Given the description of an element on the screen output the (x, y) to click on. 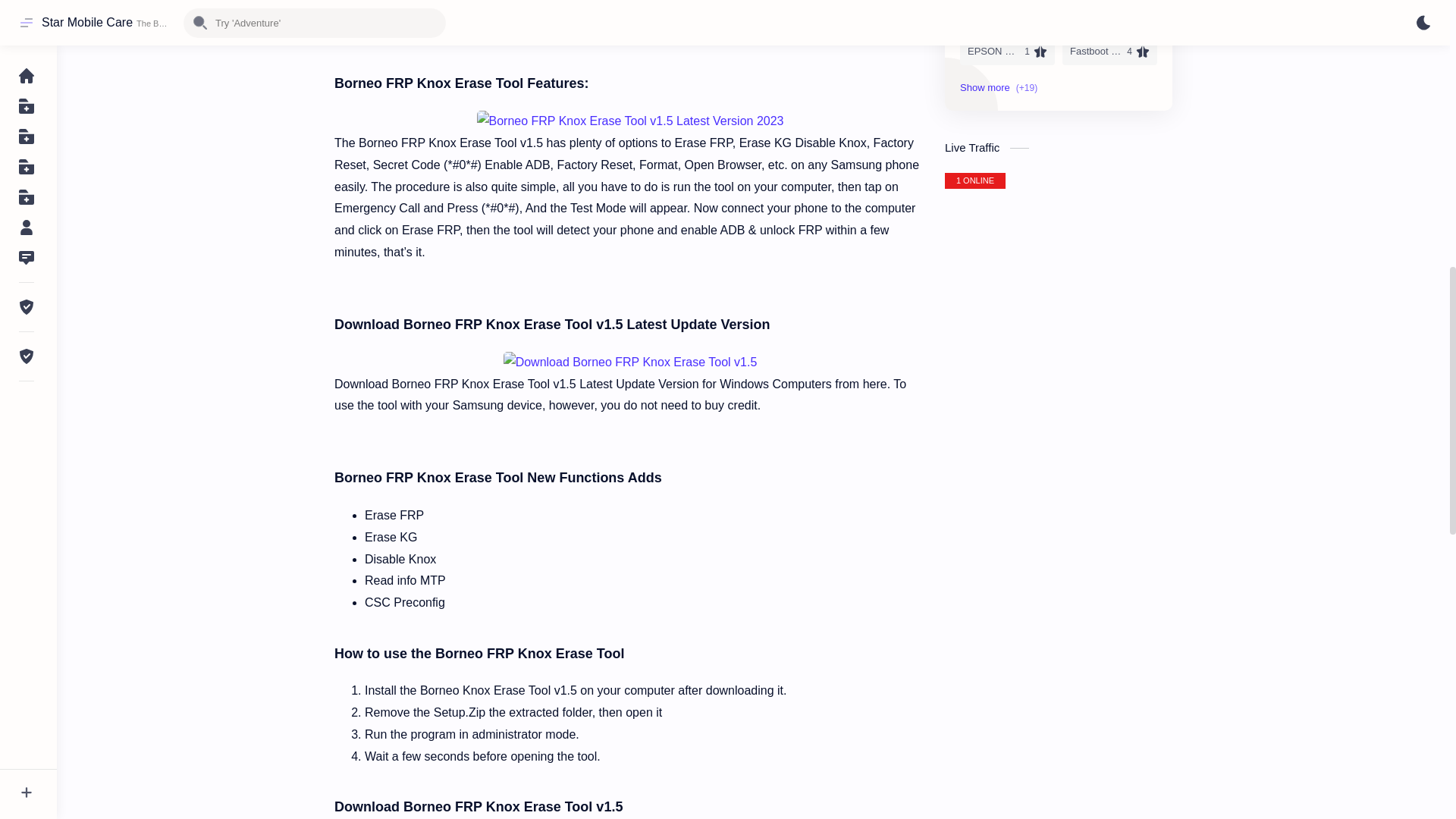
Borneo FRP Knox Erase Tool v1.5 Latest Version 2023 (629, 121)
Download Borneo FRP Knox Erase Tool v1.5 (630, 362)
